Given the description of an element on the screen output the (x, y) to click on. 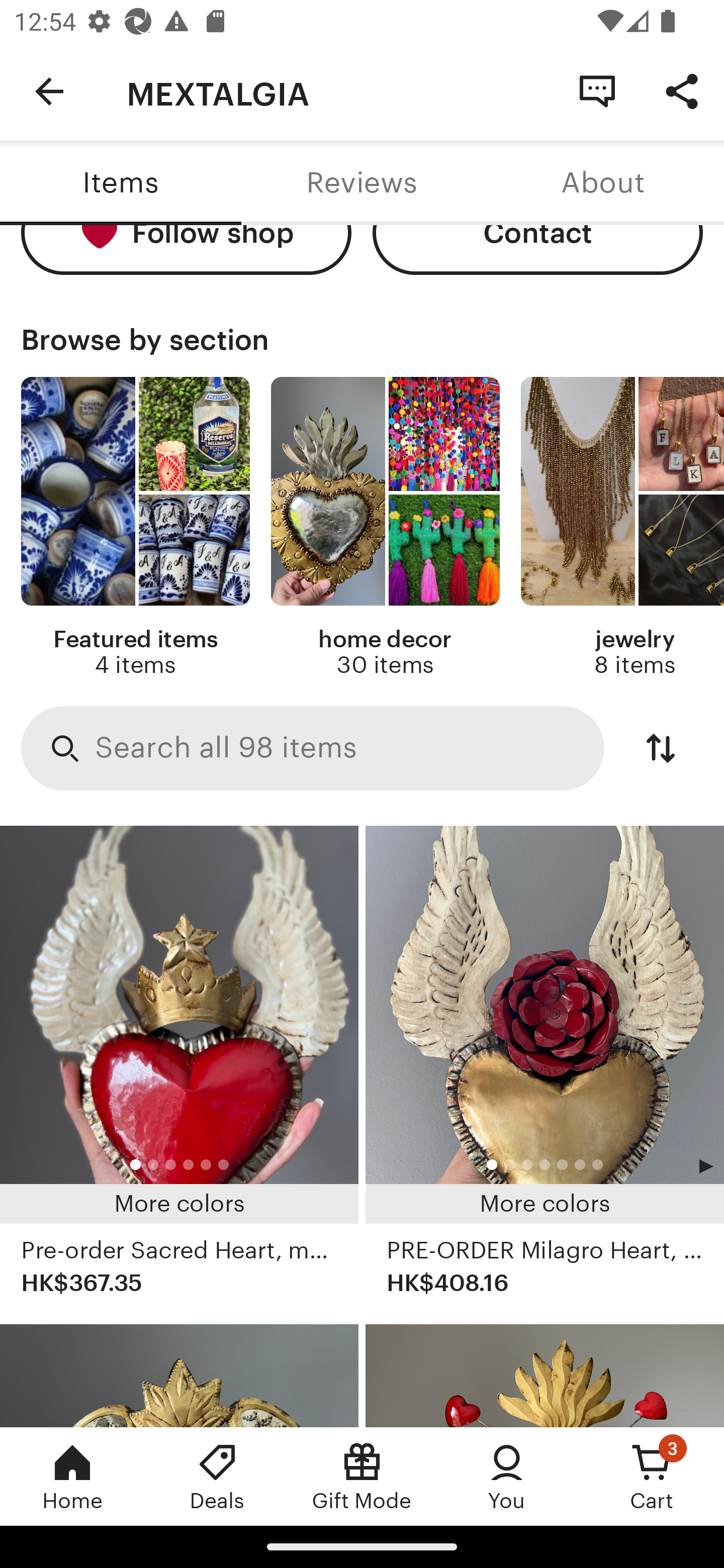
Navigate up (49, 91)
Contact Shop (597, 90)
Share (681, 90)
Reviews (361, 183)
About (603, 183)
Follow shop (185, 249)
Contact (537, 249)
Featured items 4 items (134, 526)
home decor 30 items (384, 526)
jewelry 8 items (622, 526)
Search Search all 98 items (312, 747)
Deals (216, 1475)
Gift Mode (361, 1475)
You (506, 1475)
Cart, 3 new notifications Cart (651, 1475)
